Given the description of an element on the screen output the (x, y) to click on. 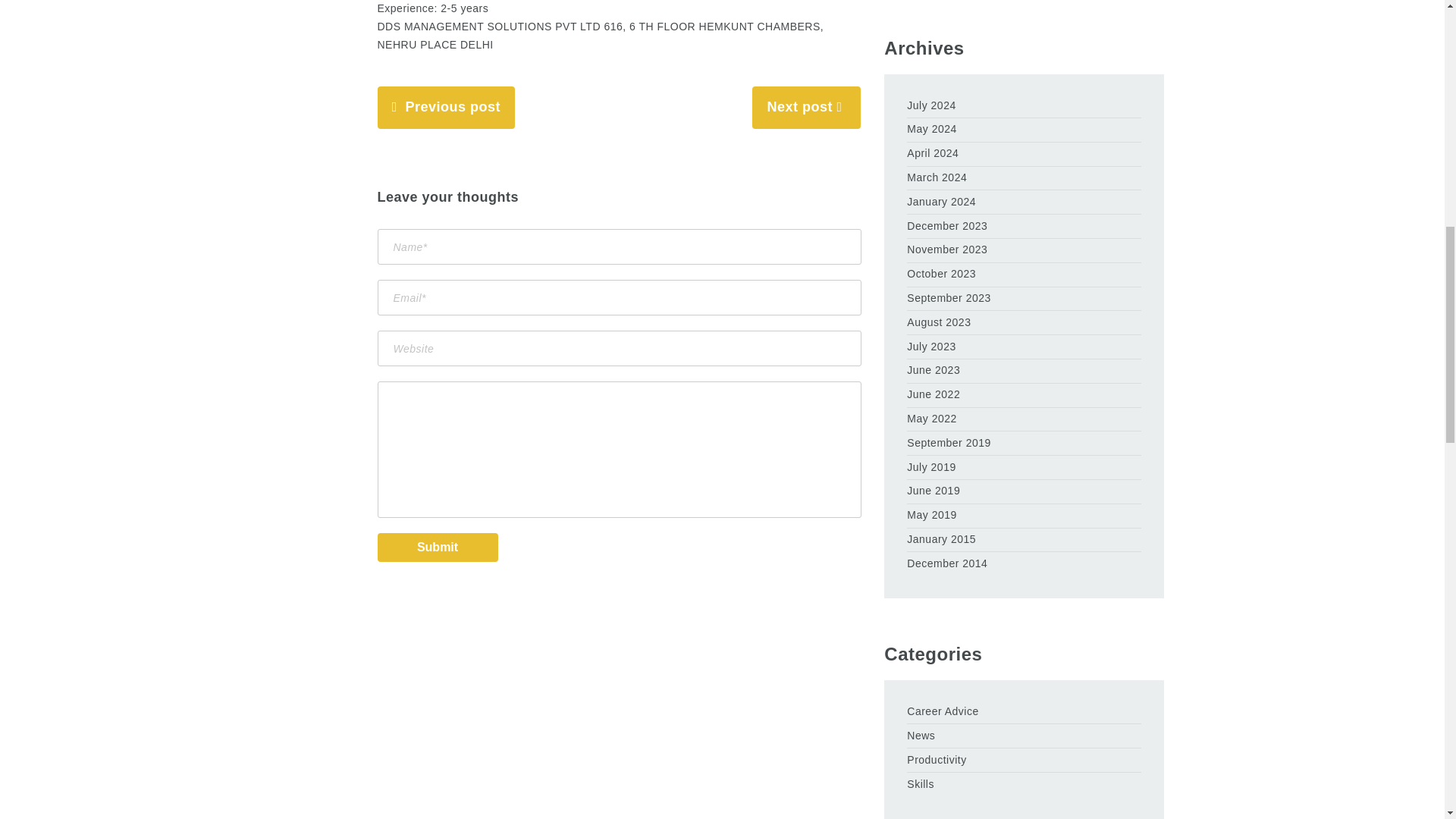
Submit (437, 547)
Submit (437, 547)
Next post (799, 106)
Previous post (452, 106)
